Given the description of an element on the screen output the (x, y) to click on. 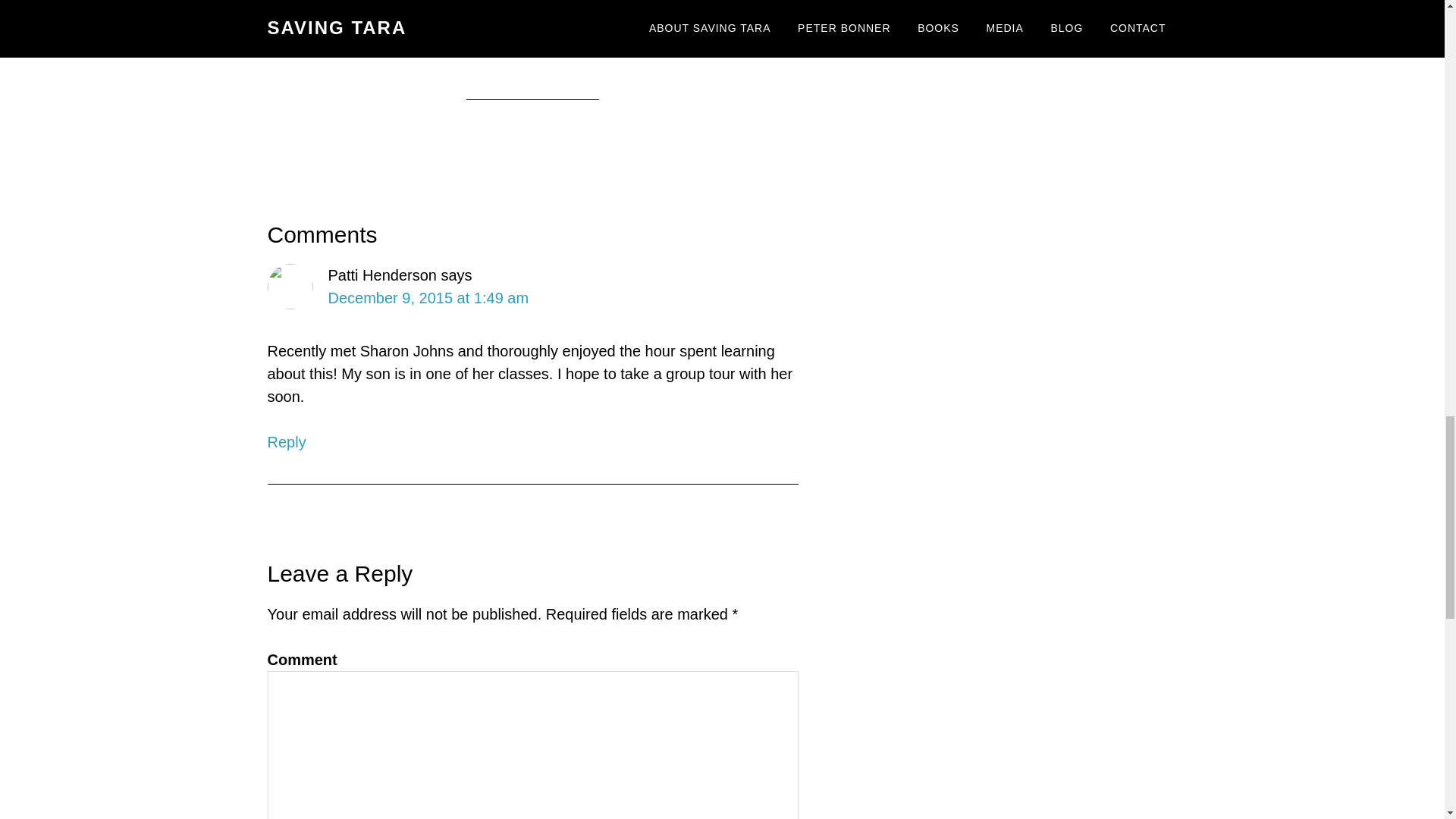
Reply (285, 442)
December 9, 2015 at 1:49 am (427, 297)
